Given the description of an element on the screen output the (x, y) to click on. 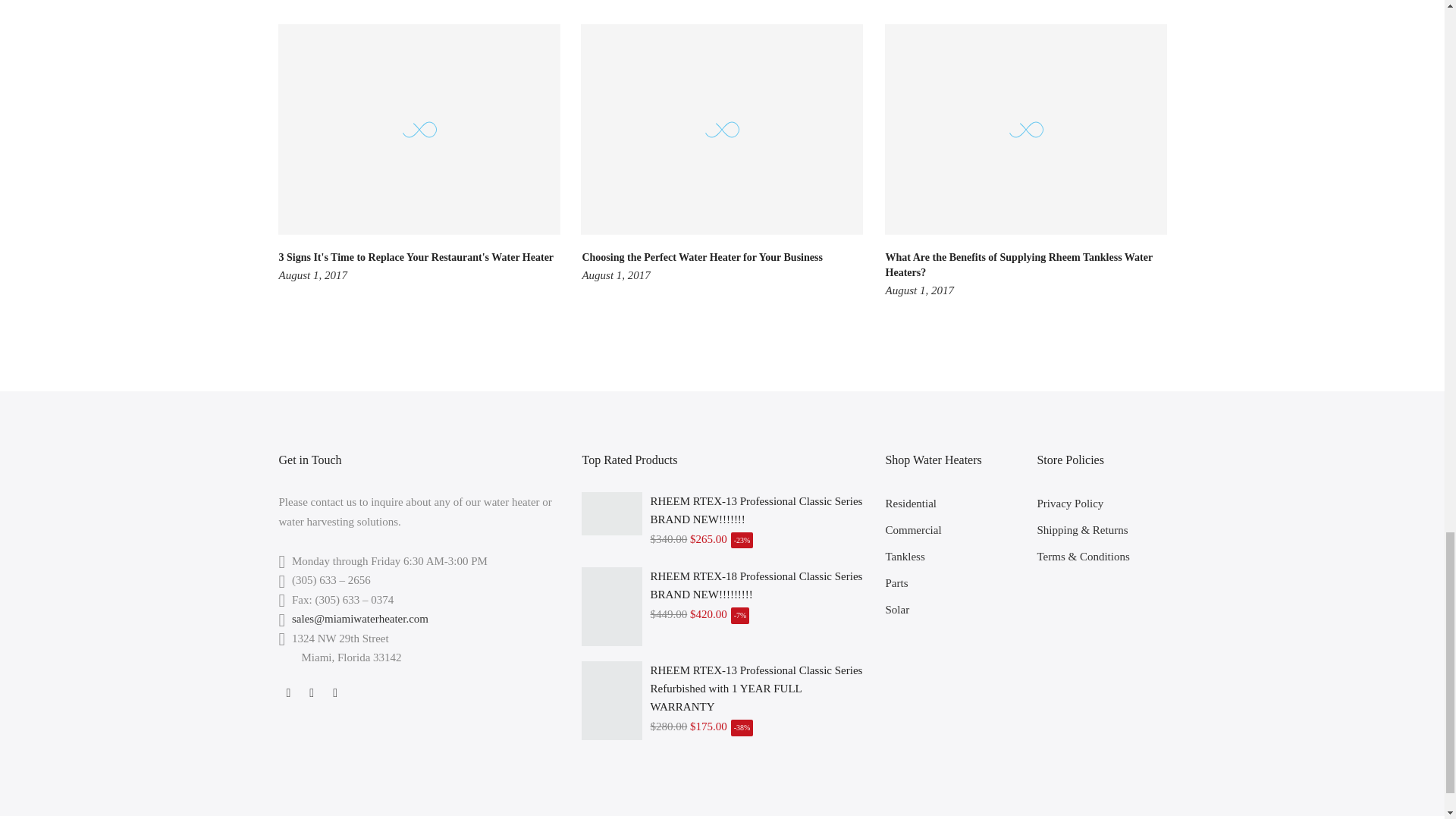
3 Signs It's Time to Replace Your Restaurant's Water Heater (416, 256)
Choosing the Perfect Water Heater for Your Business (701, 256)
